Given the description of an element on the screen output the (x, y) to click on. 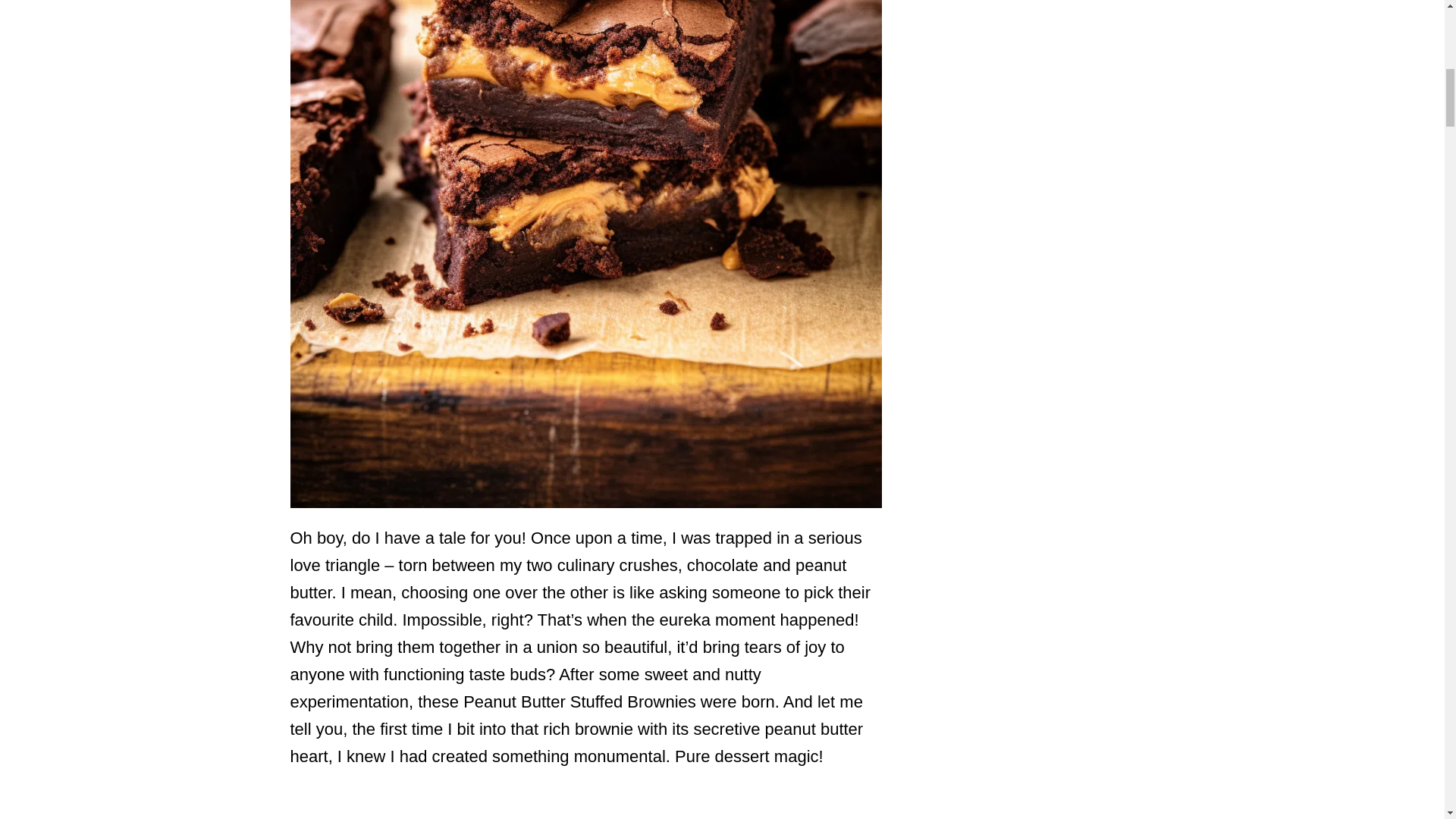
Peanut Butter Stuffed Brownies (584, 493)
